Given the description of an element on the screen output the (x, y) to click on. 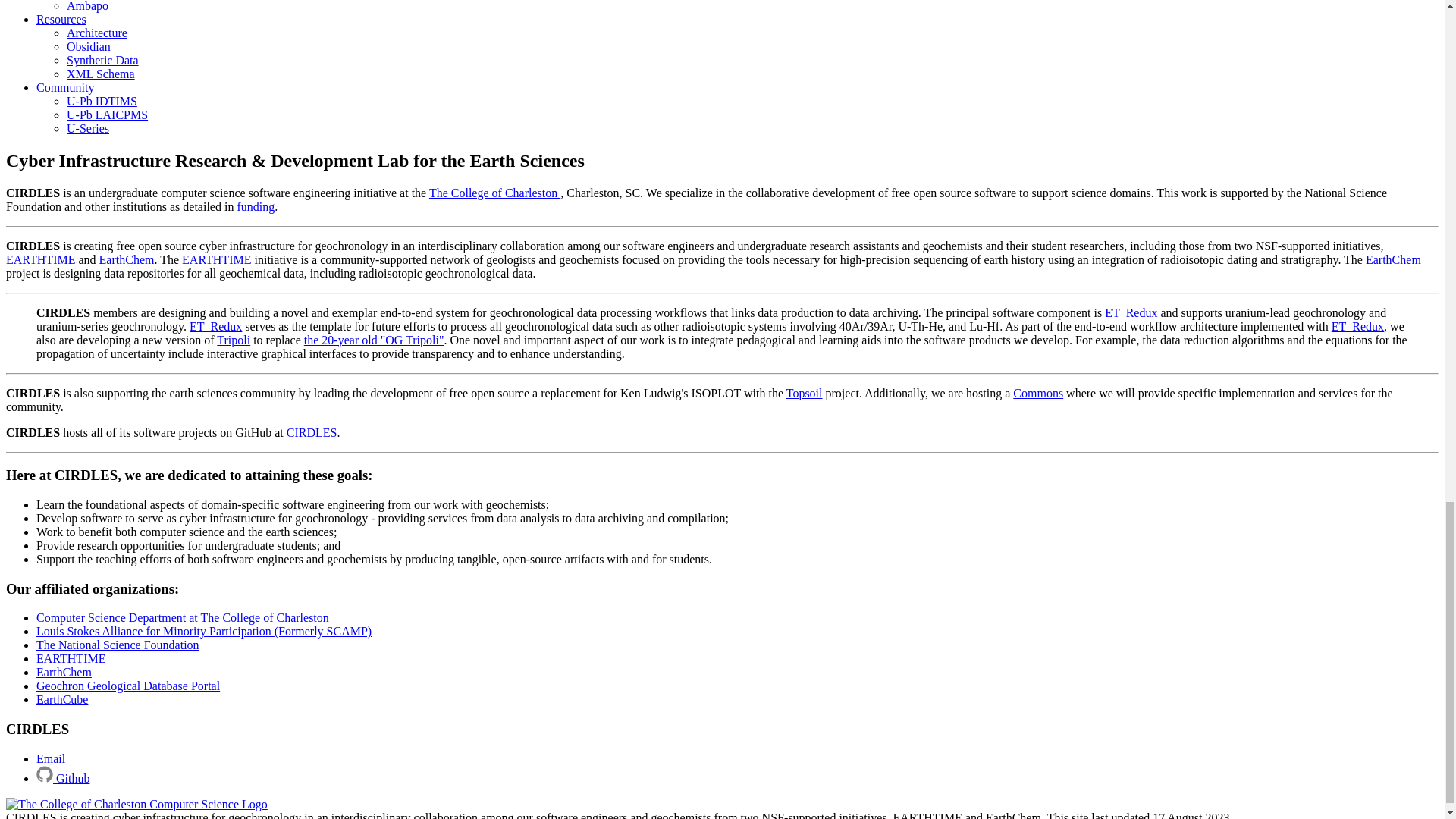
U-Pb LAICPMS (107, 114)
Ambapo (86, 6)
Obsidian (88, 46)
The College of Charleston (494, 192)
U-Series (87, 128)
EarthChem (126, 259)
EarthChem (1393, 259)
funding (255, 205)
EARTHTIME (40, 259)
Architecture (97, 32)
